Given the description of an element on the screen output the (x, y) to click on. 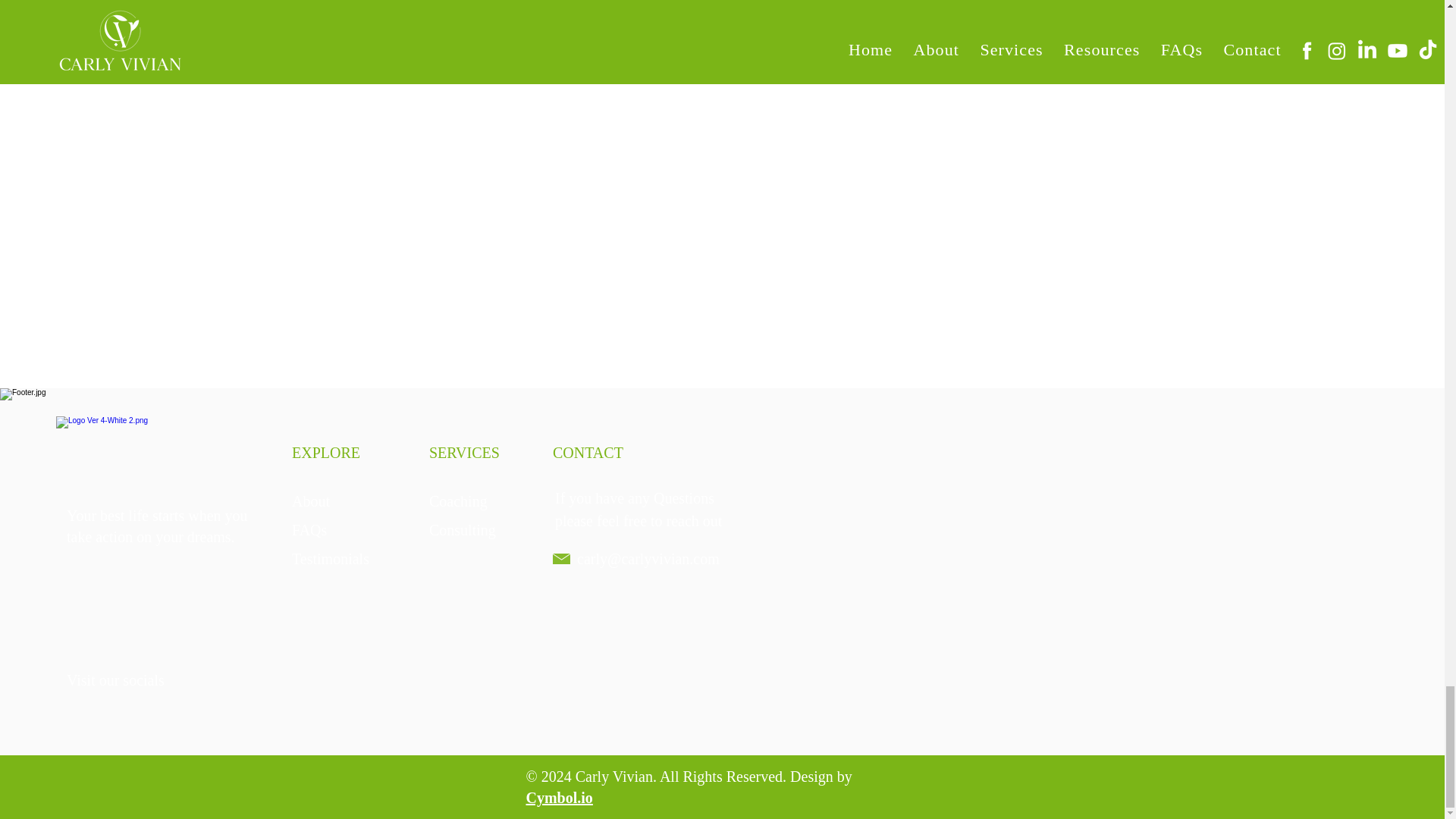
Cymbol.io (558, 797)
EXPLORE (325, 452)
CONTACT (588, 452)
About (311, 501)
SERVICES (464, 452)
